Given the description of an element on the screen output the (x, y) to click on. 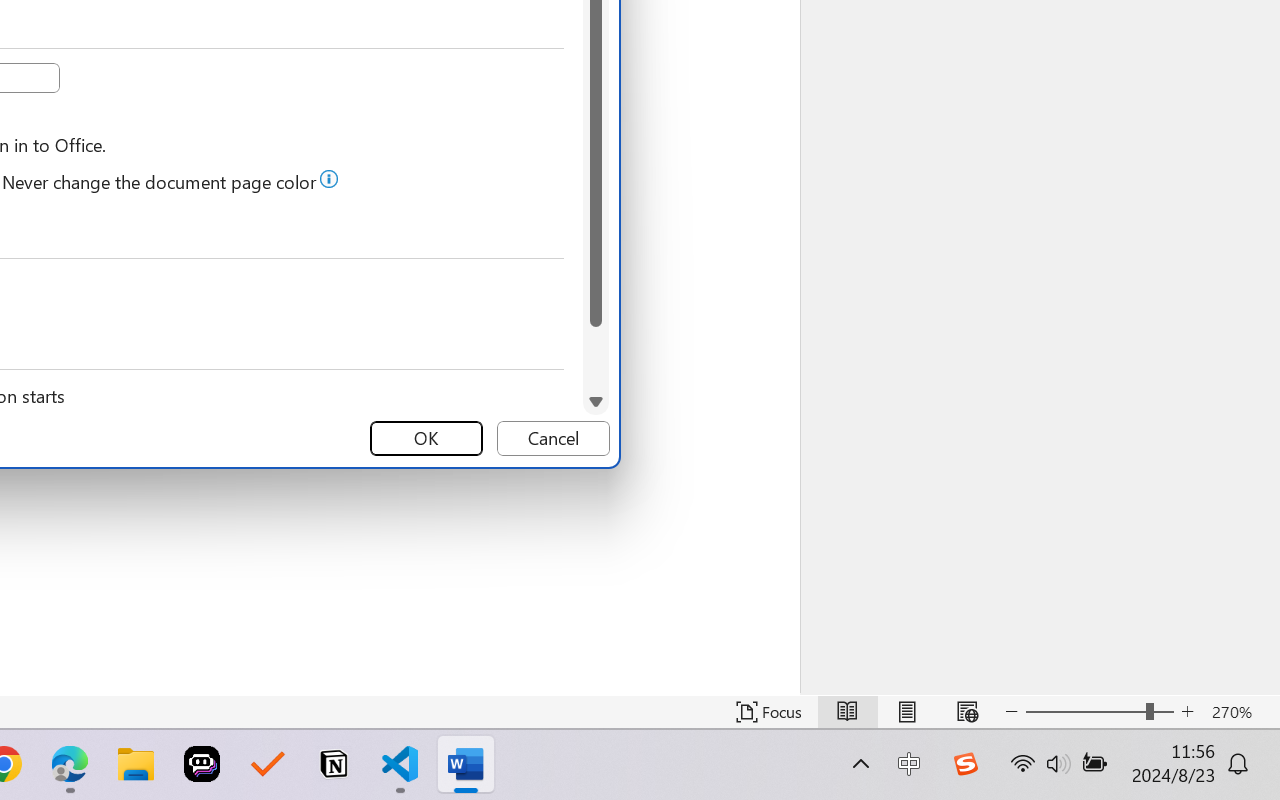
Decrease Text Size (1011, 712)
OK (425, 437)
Page down (595, 357)
Line down (595, 401)
Increase Text Size (1187, 712)
